Given the description of an element on the screen output the (x, y) to click on. 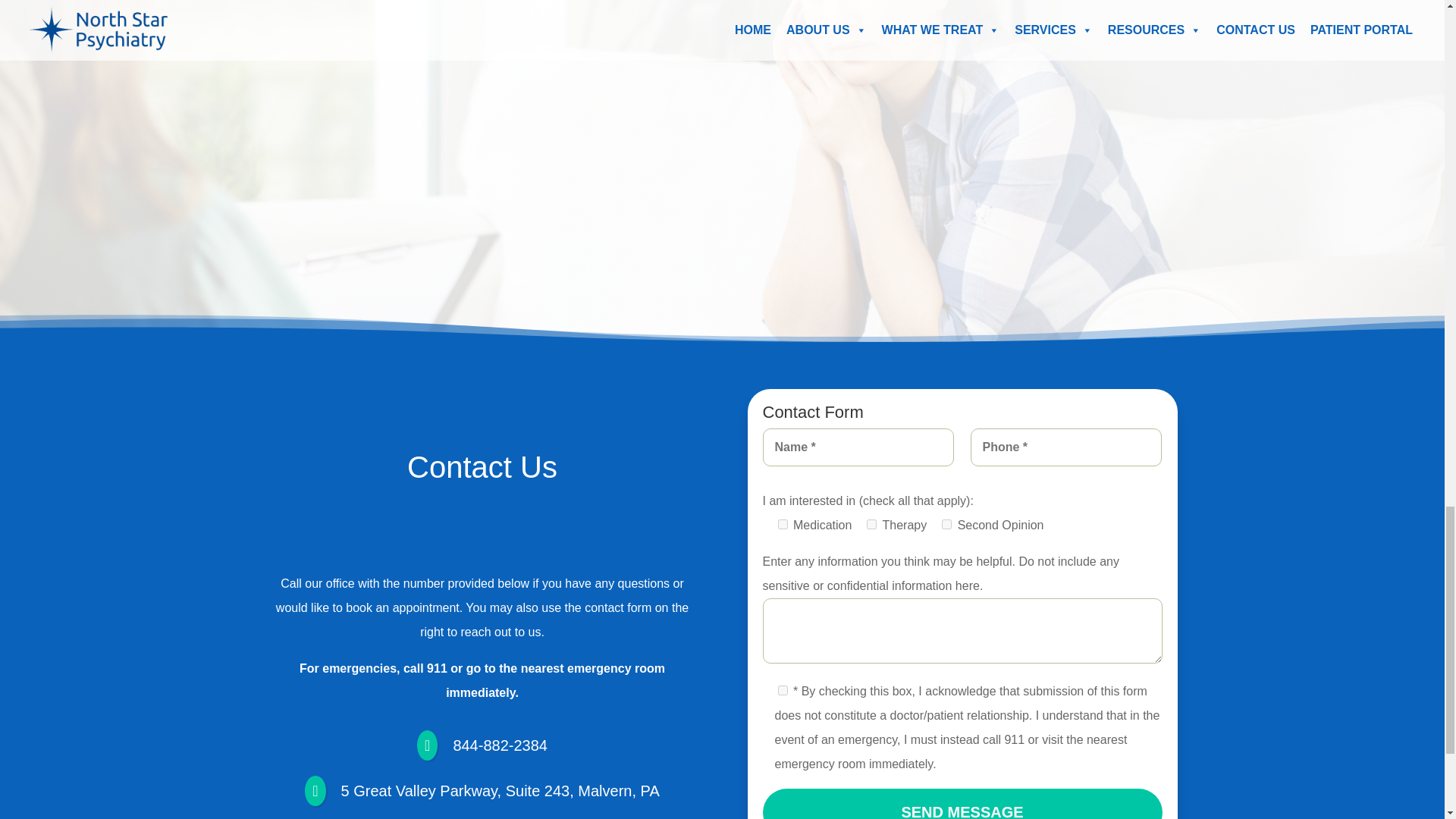
Medication (782, 524)
SEND MESSAGE (961, 803)
SEND MESSAGE (961, 803)
Therapy (871, 524)
Second Opinion (947, 524)
